Given the description of an element on the screen output the (x, y) to click on. 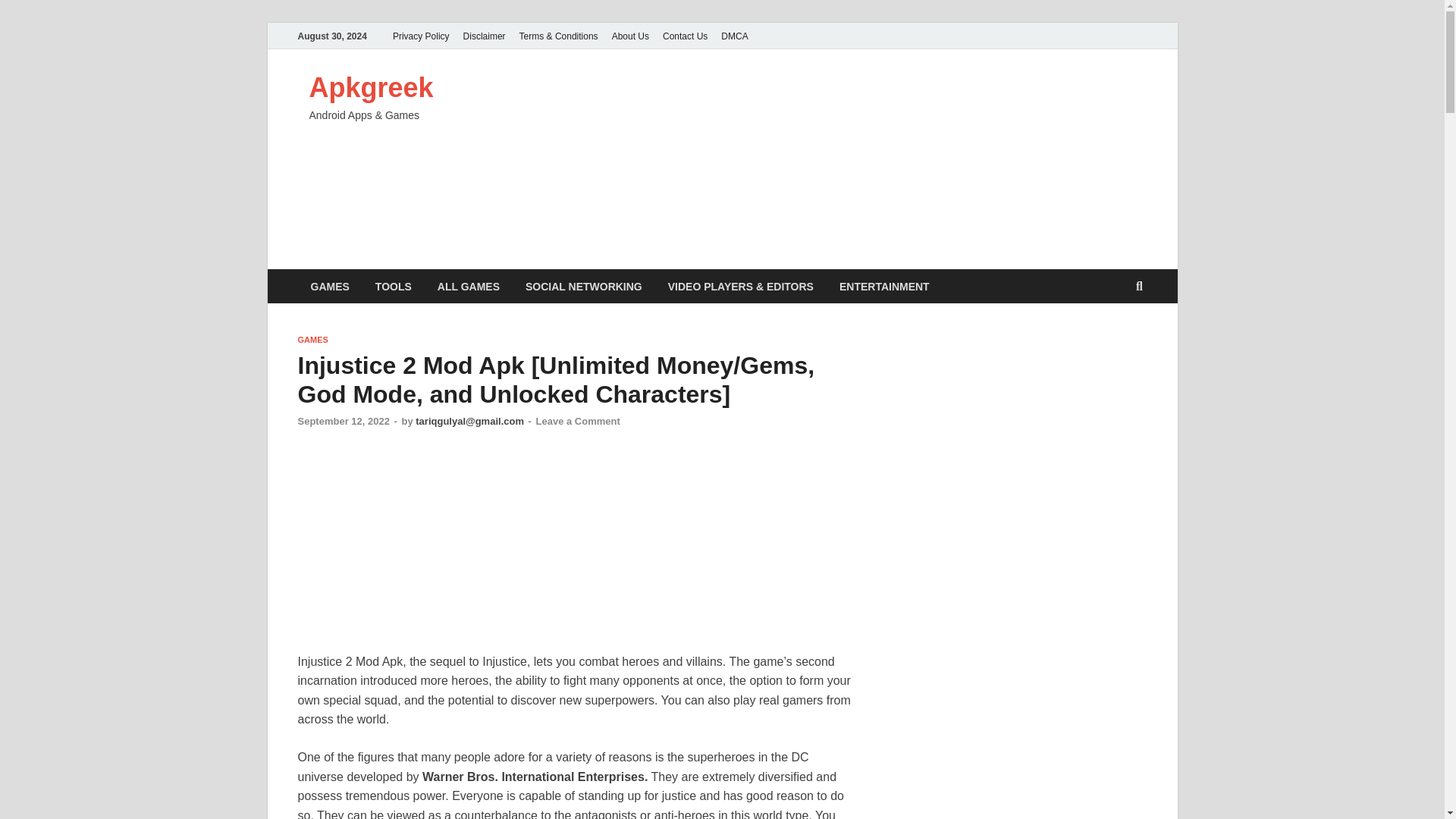
GAMES (312, 338)
Disclaimer (484, 35)
SOCIAL NETWORKING (583, 286)
About Us (630, 35)
Apkgreek (370, 87)
Contact Us (685, 35)
ALL GAMES (468, 286)
September 12, 2022 (342, 420)
ENTERTAINMENT (884, 286)
DMCA (734, 35)
